Given the description of an element on the screen output the (x, y) to click on. 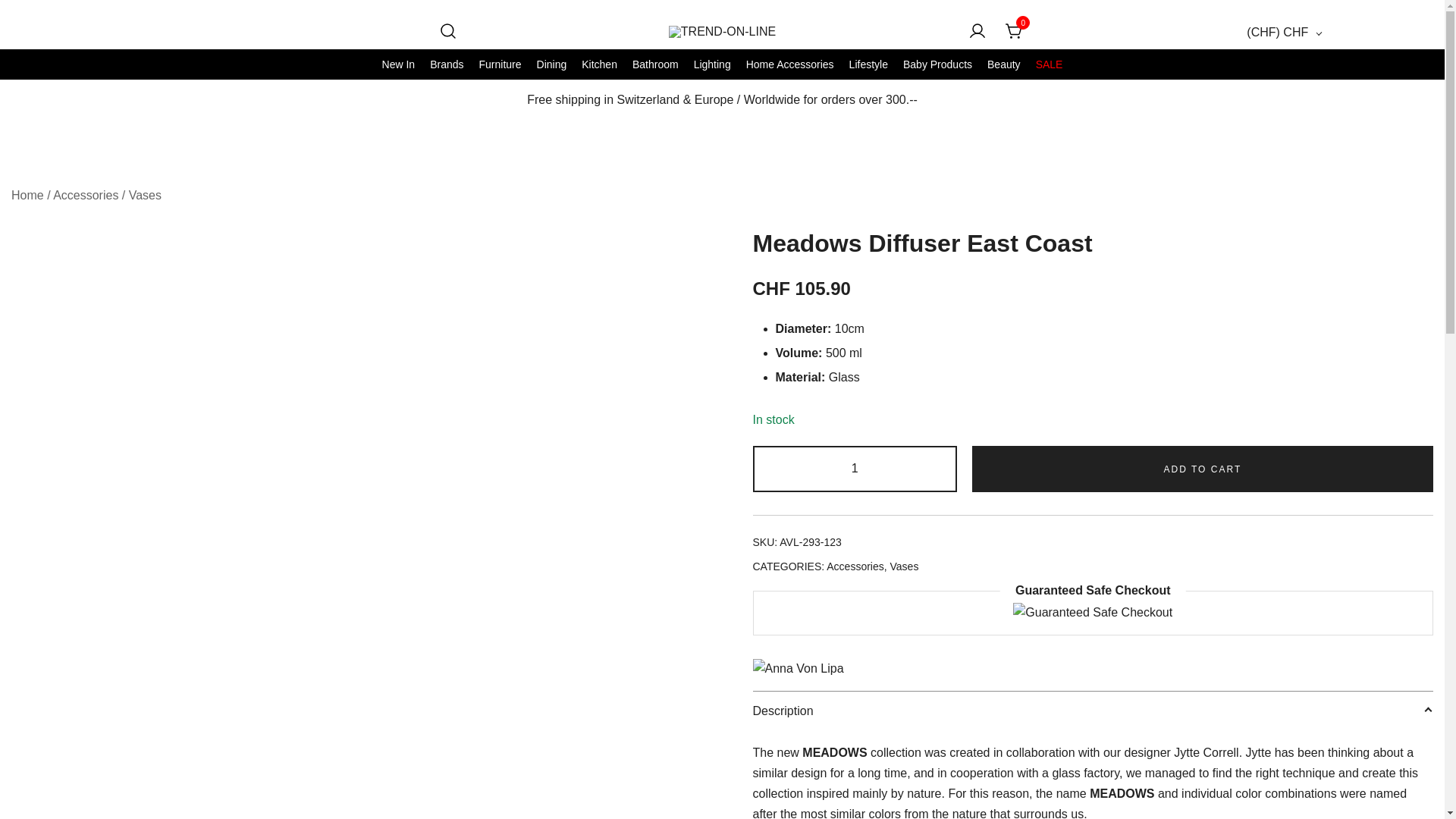
View your shopping cart (1014, 31)
1 (854, 468)
Brands (446, 64)
0 (1014, 31)
New In (398, 64)
TREND-ON-LINE (728, 58)
Furniture (499, 64)
Search for a product (448, 32)
